Given the description of an element on the screen output the (x, y) to click on. 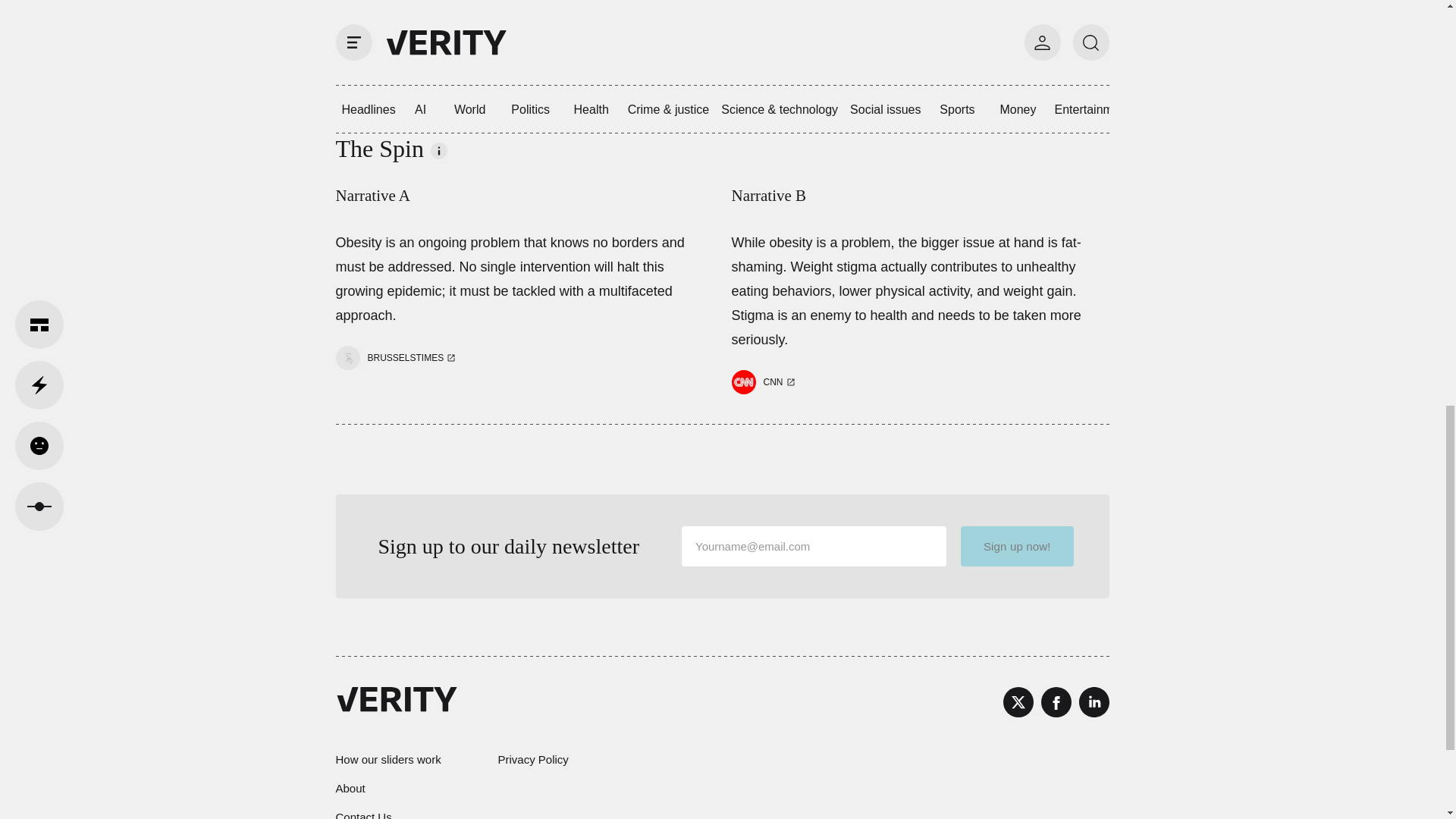
CNN (772, 381)
Brusselstimes (405, 357)
CNN (763, 381)
Show more (581, 71)
BRUSSELSTIMES (397, 357)
